Given the description of an element on the screen output the (x, y) to click on. 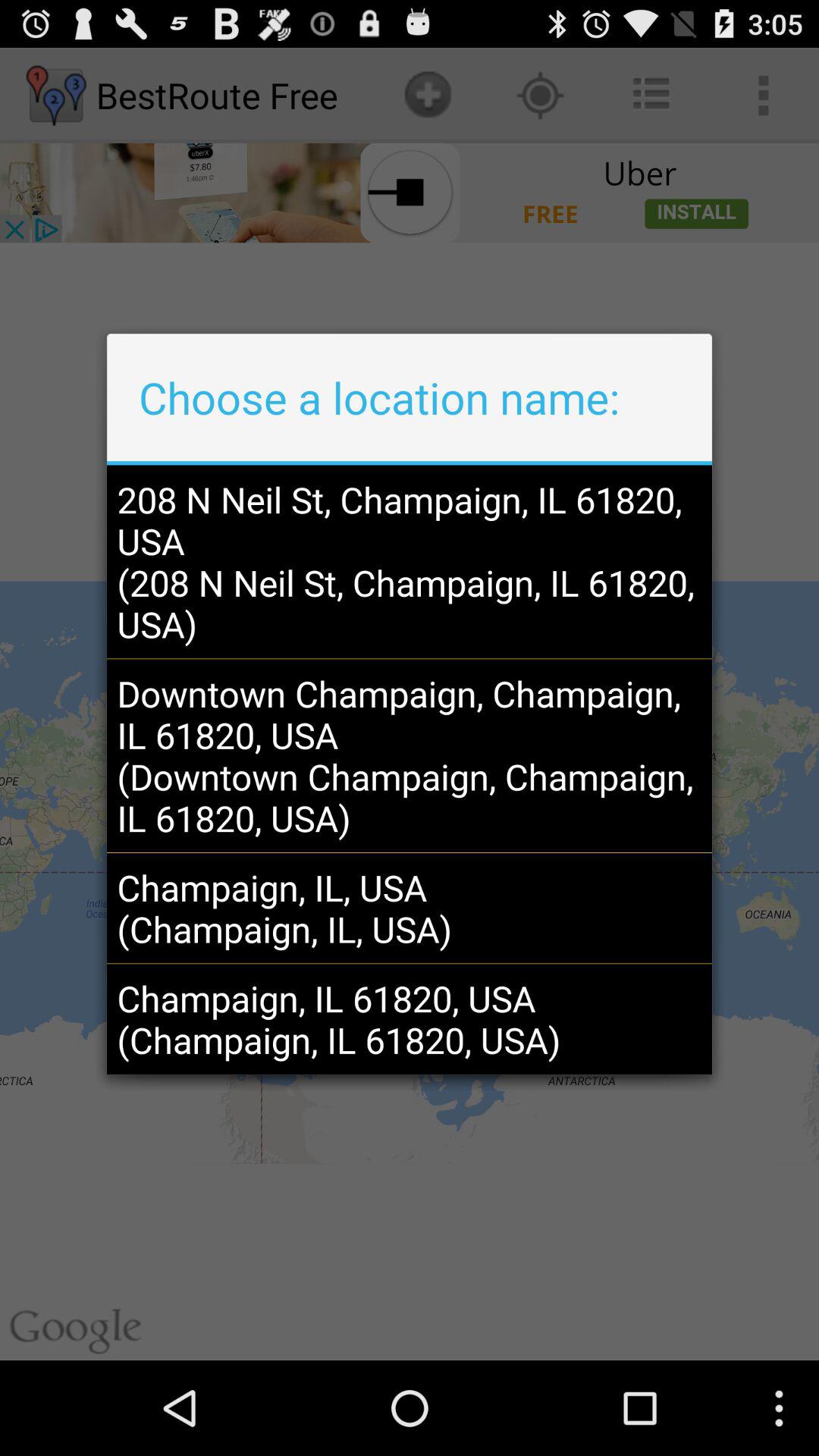
scroll until 208 n neil icon (409, 561)
